Given the description of an element on the screen output the (x, y) to click on. 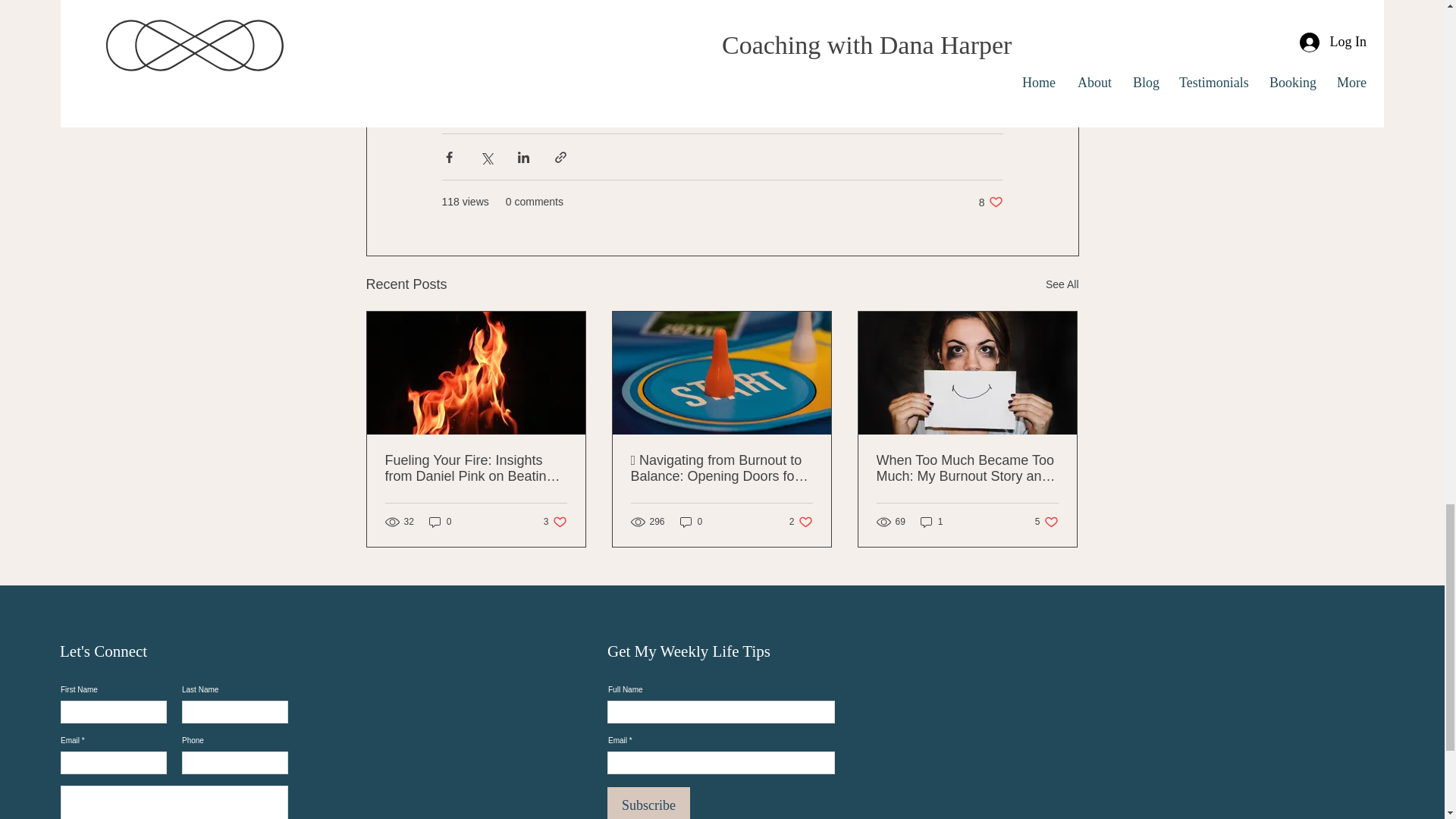
Subscribe (990, 201)
See All (1046, 521)
0 (648, 803)
0 (555, 521)
1 (1061, 284)
